Given the description of an element on the screen output the (x, y) to click on. 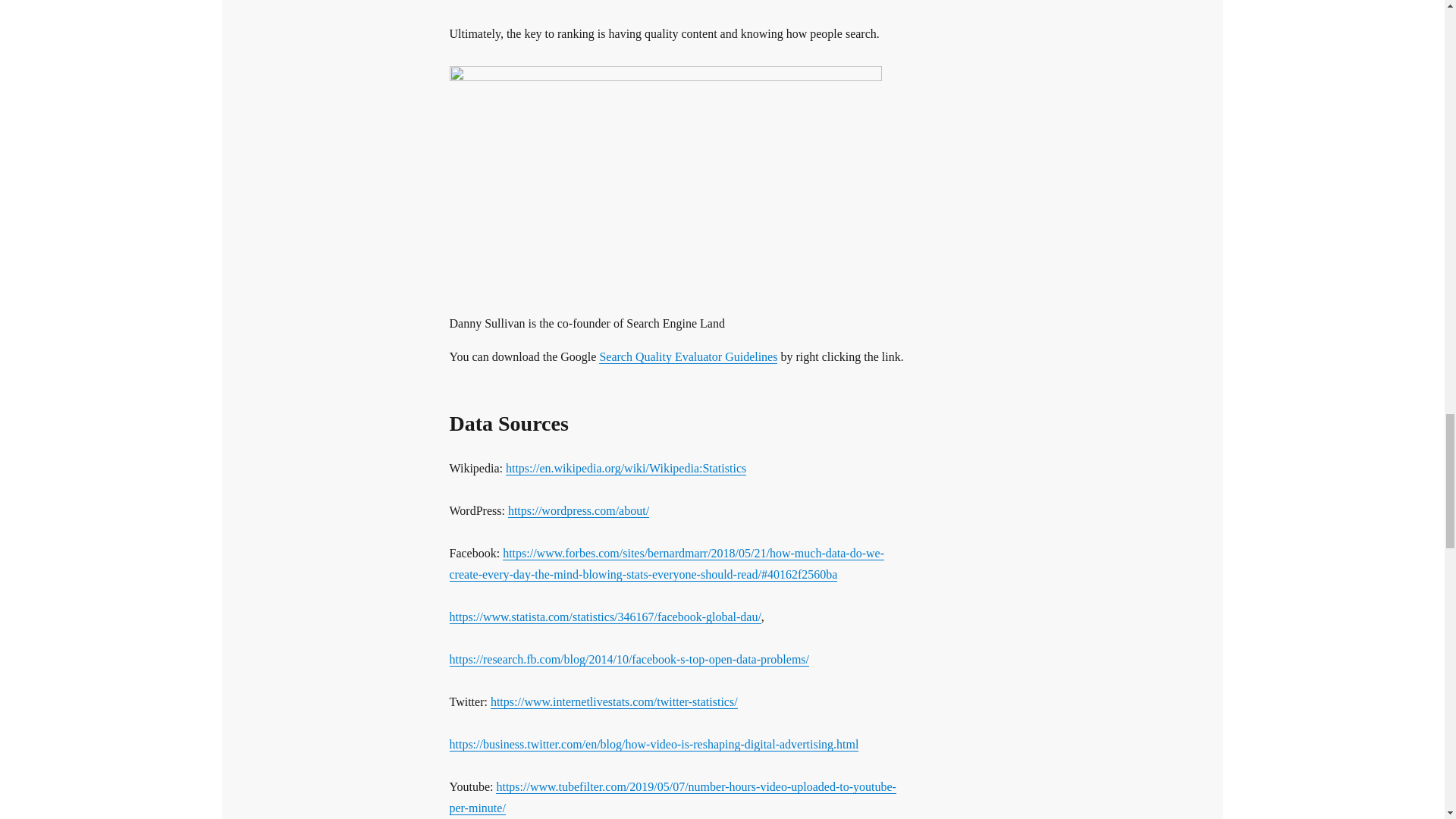
Search Quality Evaluator Guidelines (687, 356)
